Given the description of an element on the screen output the (x, y) to click on. 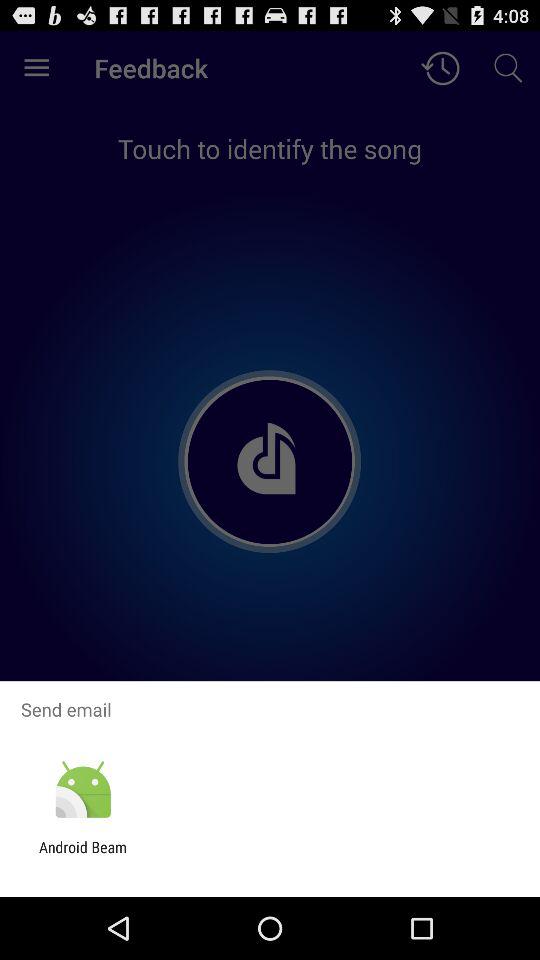
launch the android beam (83, 856)
